Given the description of an element on the screen output the (x, y) to click on. 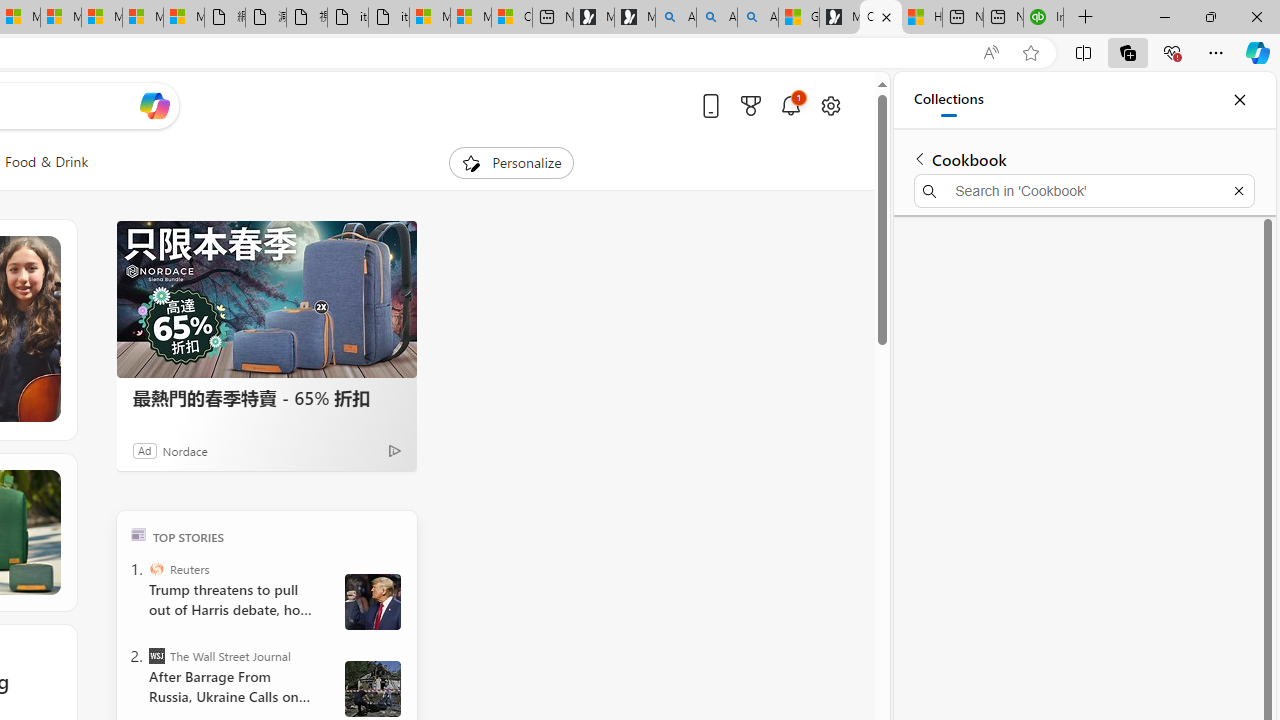
Reuters (156, 568)
itconcepthk.com/projector_solutions.mp4 (388, 17)
The Wall Street Journal (156, 655)
How to Use a TV as a Computer Monitor (922, 17)
